Given the description of an element on the screen output the (x, y) to click on. 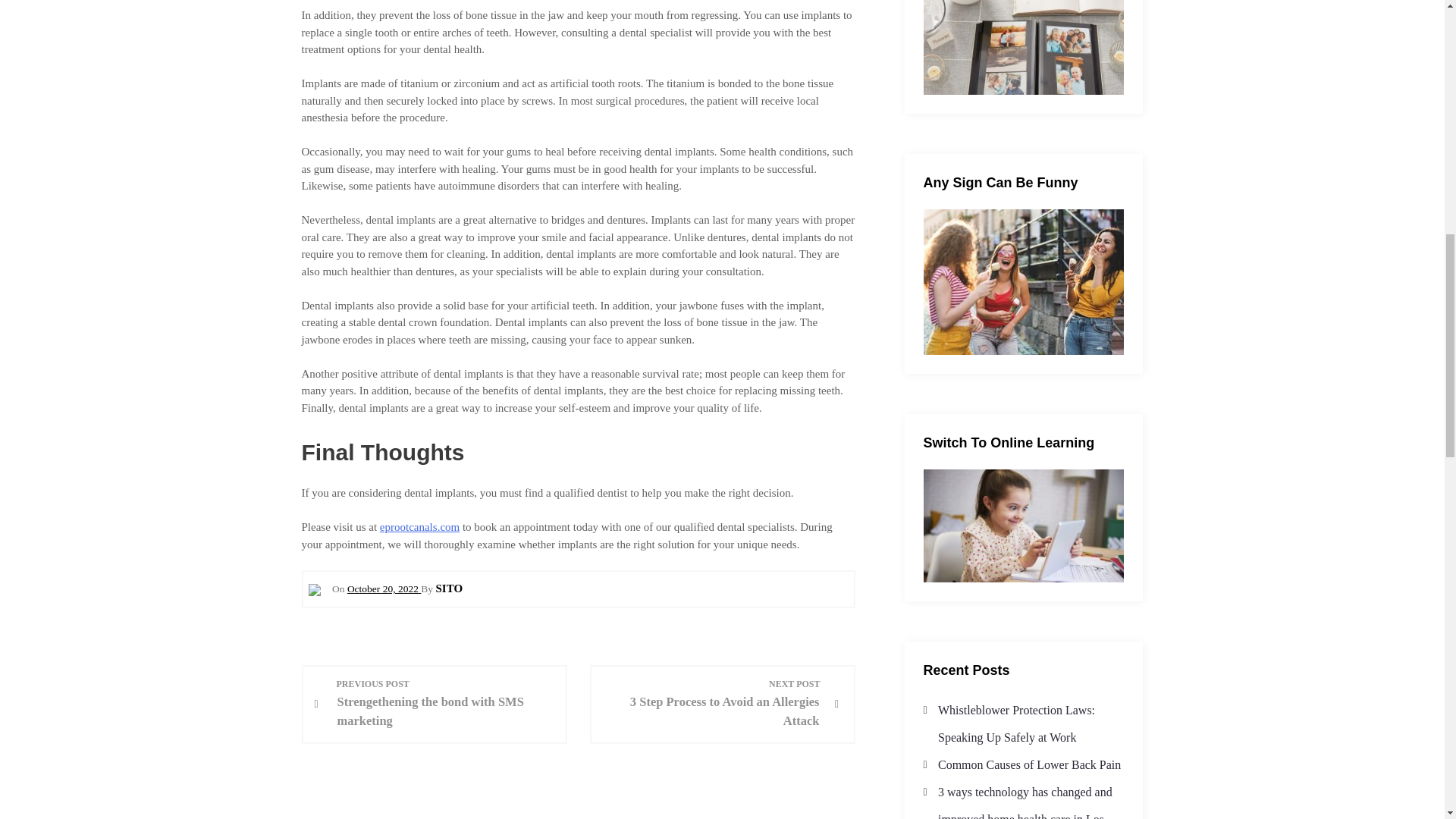
SITO (449, 588)
Whistleblower Protection Laws: Speaking Up Safely at Work (1015, 723)
October 20, 2022 (383, 588)
Common Causes of Lower Back Pain (710, 704)
eprootcanals.com (444, 704)
